Given the description of an element on the screen output the (x, y) to click on. 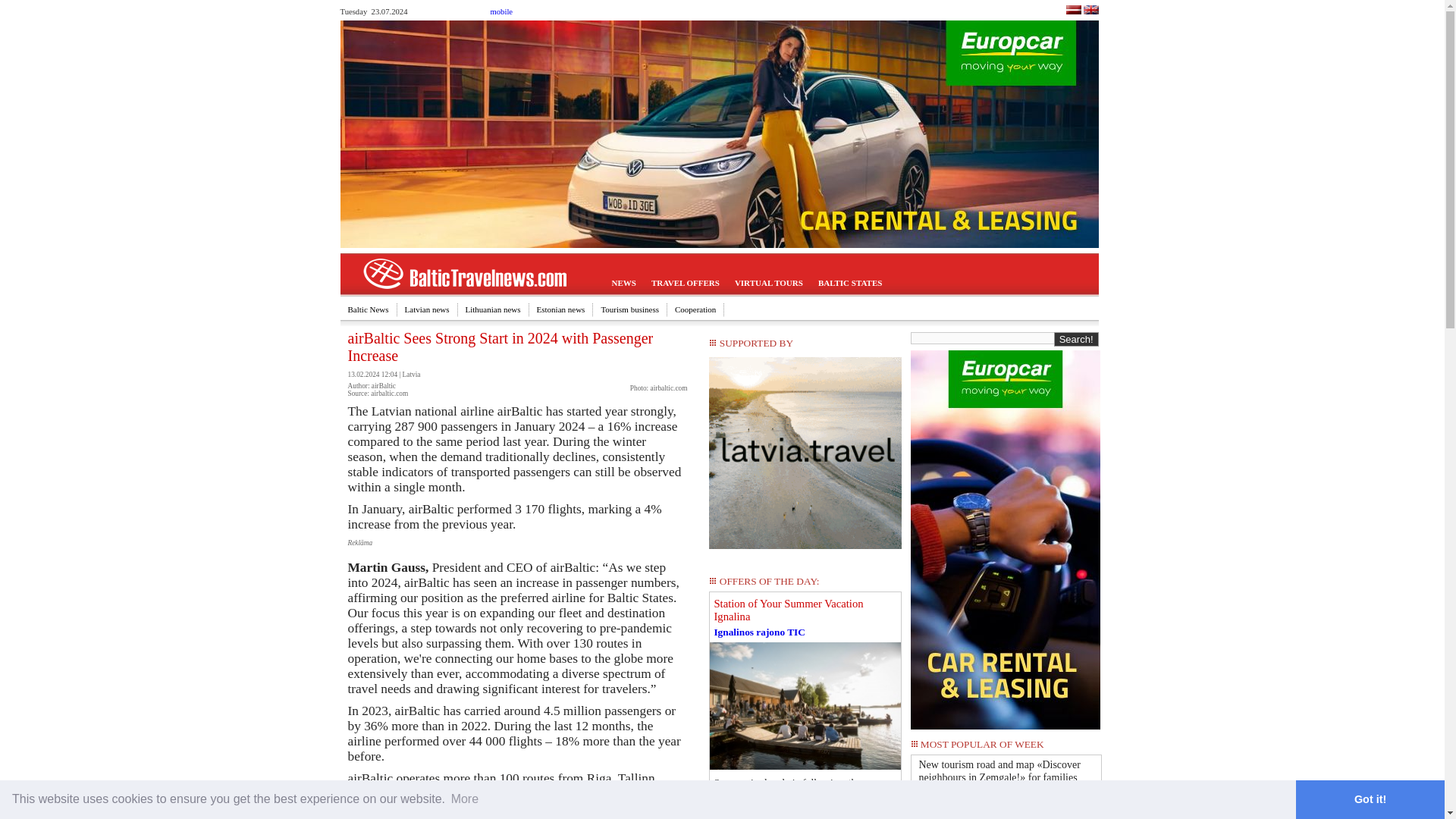
Search! (1076, 339)
Estonian news (561, 309)
Baltic News (367, 309)
Baltictravelnews.com (1090, 11)
mobile (500, 11)
Latvia (411, 374)
More (464, 798)
Lithuanian news (493, 309)
VIRTUAL TOURS (768, 284)
Latvian news (427, 309)
BALTIC STATES (849, 284)
Tourism business (629, 309)
Cooperation (694, 309)
